Given the description of an element on the screen output the (x, y) to click on. 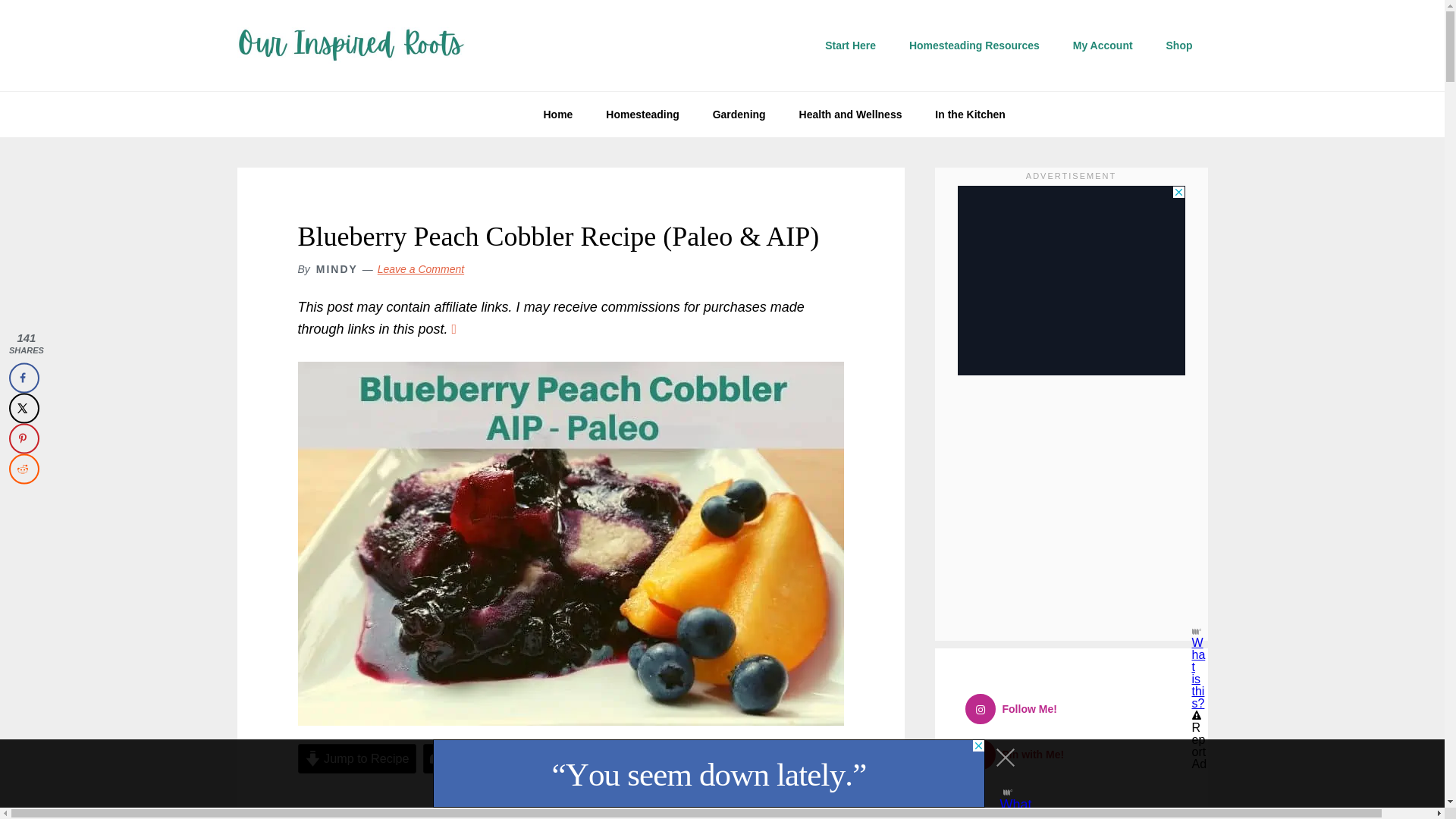
Homesteading Resources (973, 45)
Gardening (738, 114)
Homesteading (642, 114)
My Account (1103, 45)
Leave a Comment (420, 268)
Print Recipe (472, 758)
Our Inspired Roots (349, 45)
In the Kitchen (970, 114)
Home (557, 114)
Shop (1179, 45)
Follow on Pinterest (1020, 754)
Health and Wellness (850, 114)
MINDY (336, 268)
Jump to Recipe (355, 758)
3rd party ad content (570, 811)
